Given the description of an element on the screen output the (x, y) to click on. 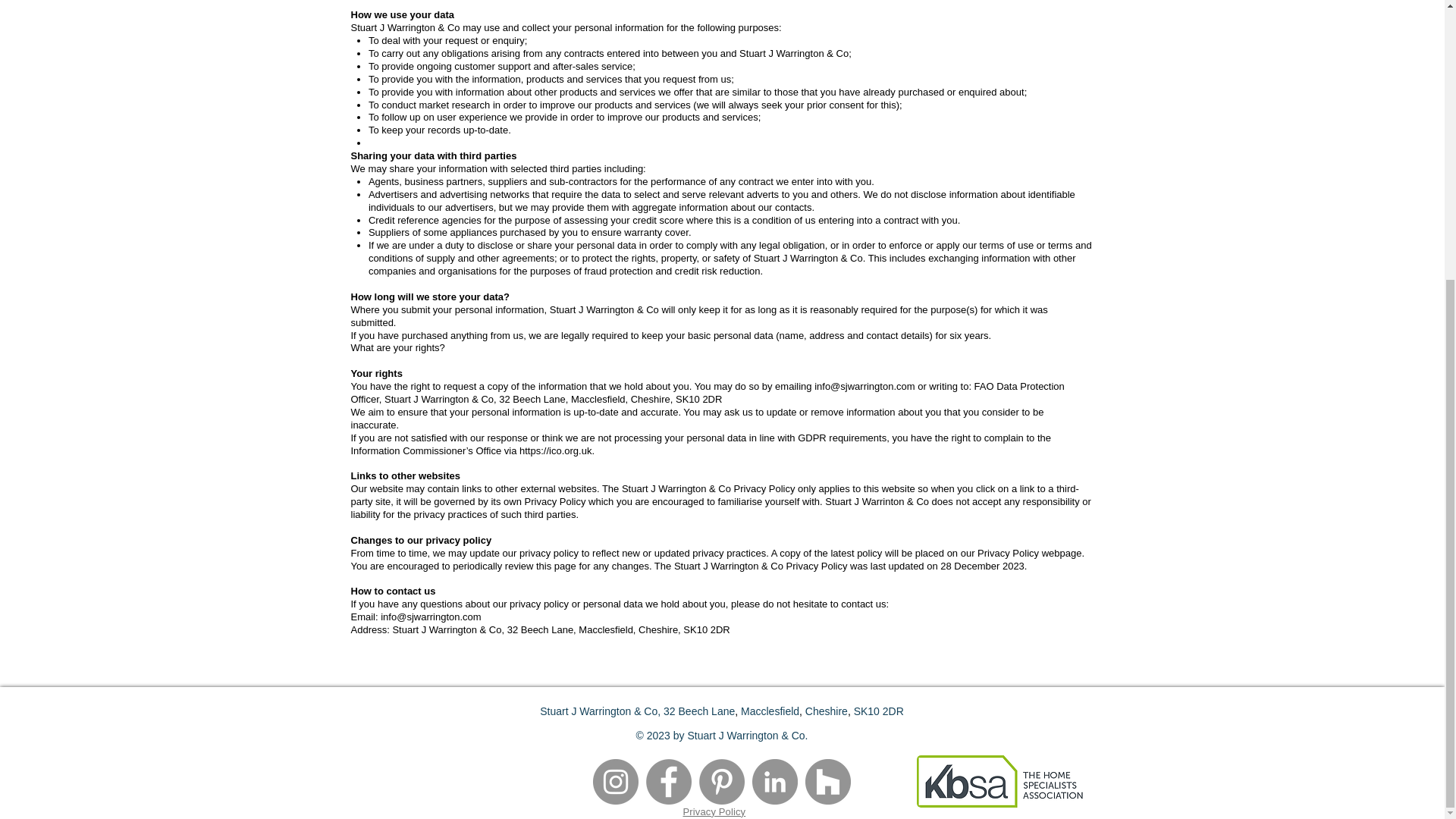
Privacy Policy (713, 811)
